Given the description of an element on the screen output the (x, y) to click on. 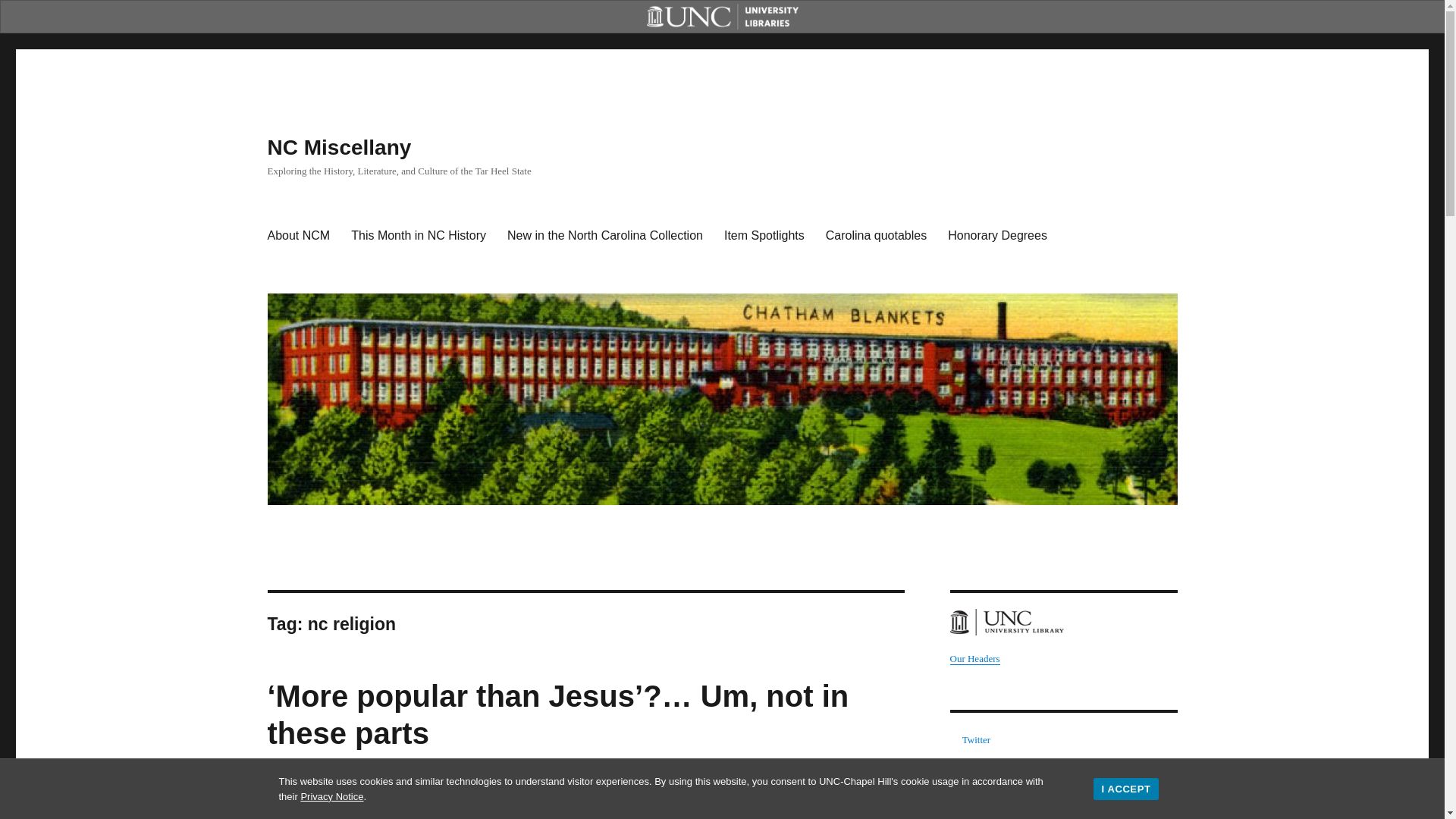
NC Miscellany (338, 146)
New in the North Carolina Collection (604, 234)
About NCM (298, 234)
NC Miscellany on Facebook (981, 763)
Honorary Degrees (997, 234)
This Month in NC History (418, 234)
I ACCEPT (1125, 789)
Privacy Notice (330, 795)
Carolina quotables (876, 234)
Item Spotlights (764, 234)
